Given the description of an element on the screen output the (x, y) to click on. 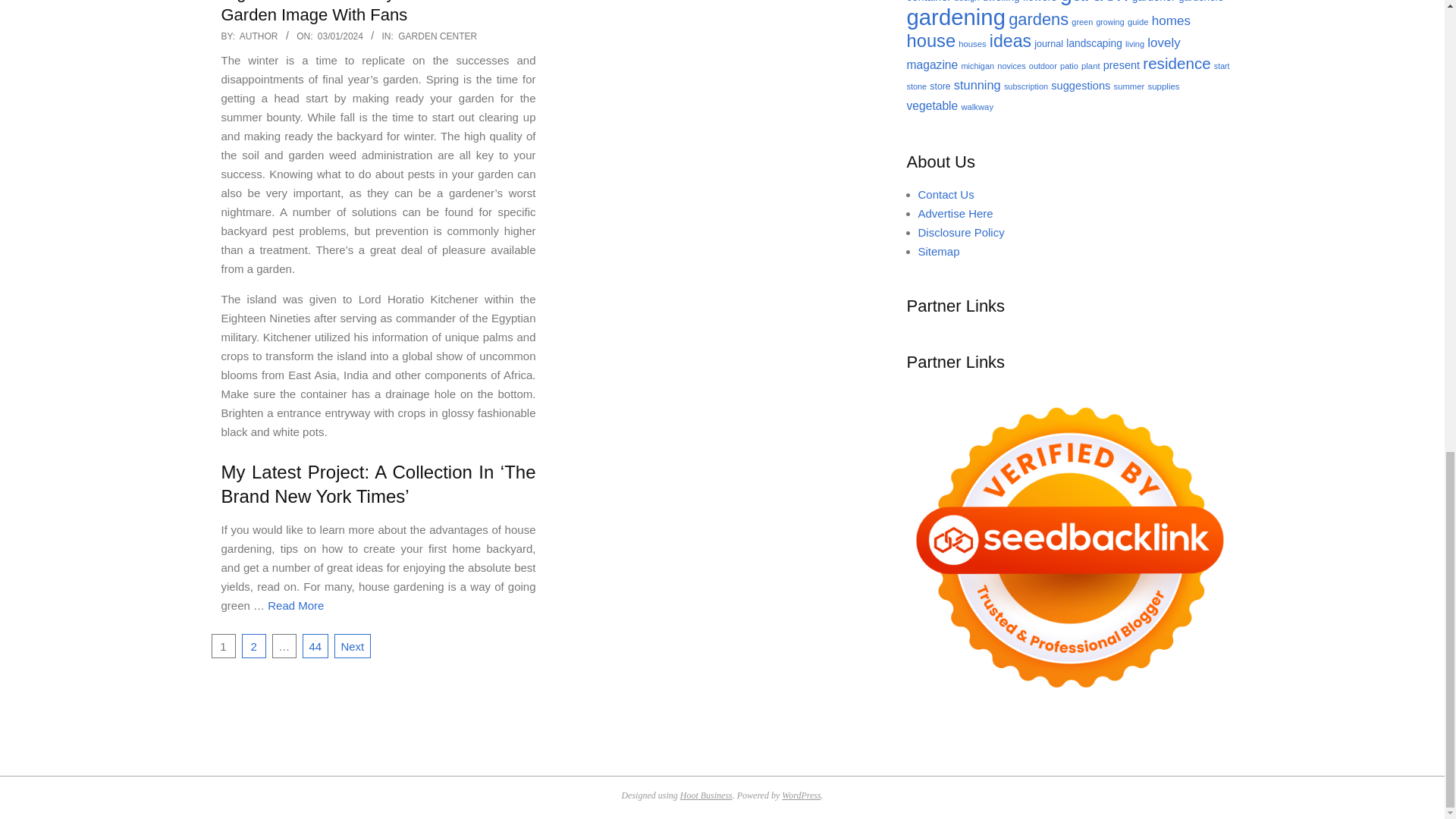
Posts by Author (259, 36)
Nigella Shares Lovely Summer Season Garden Image With Fans (378, 12)
Seedbacklink (1070, 547)
Hoot Business WordPress Theme (705, 795)
AUTHOR (259, 36)
Wednesday, January 3, 2024, 5:46 pm (339, 36)
